Given the description of an element on the screen output the (x, y) to click on. 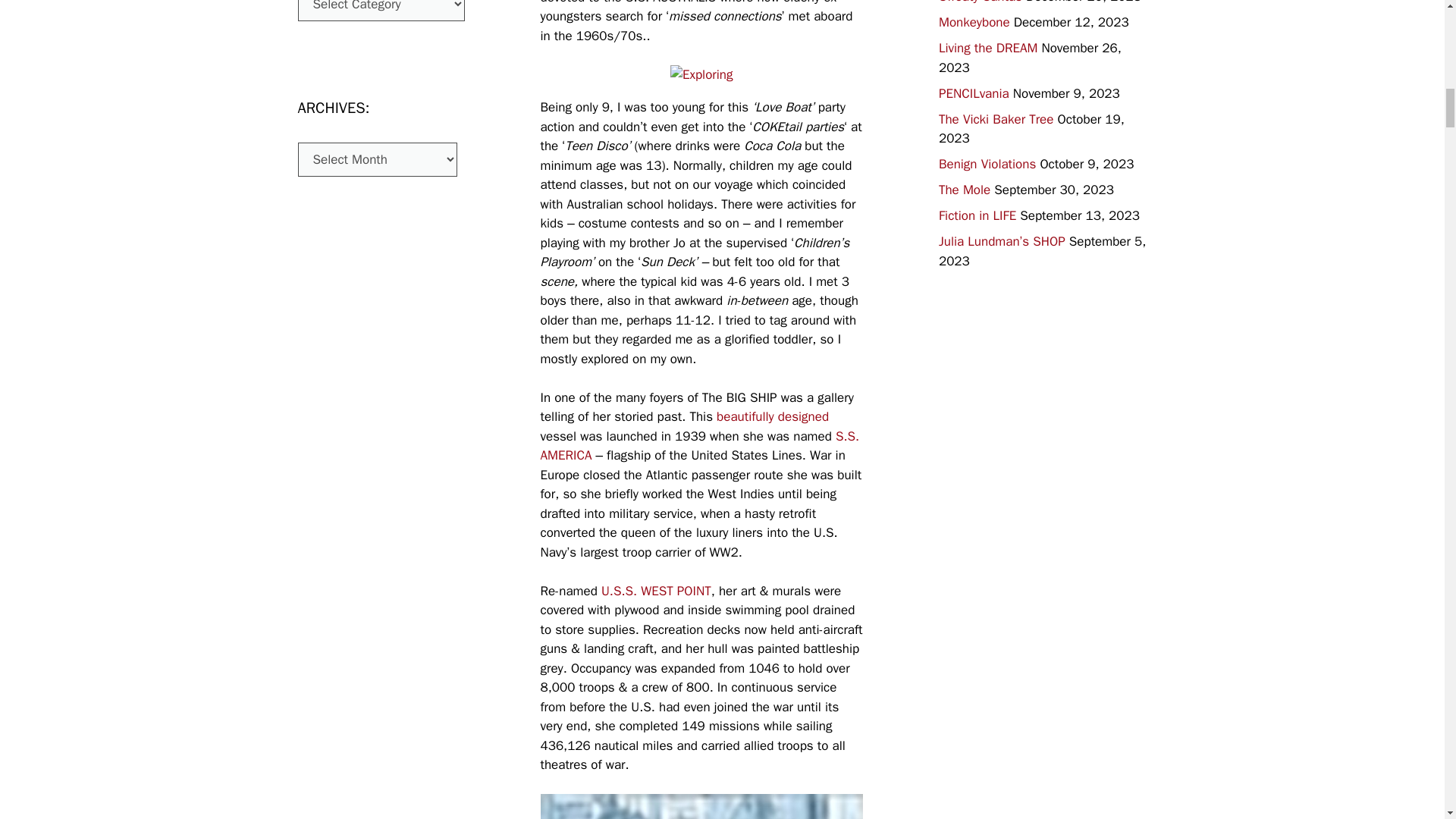
S.S. AMERICA (699, 446)
beautifully designed (772, 416)
U.S.S. WEST POINT (656, 590)
beautifully designed (772, 416)
